Given the description of an element on the screen output the (x, y) to click on. 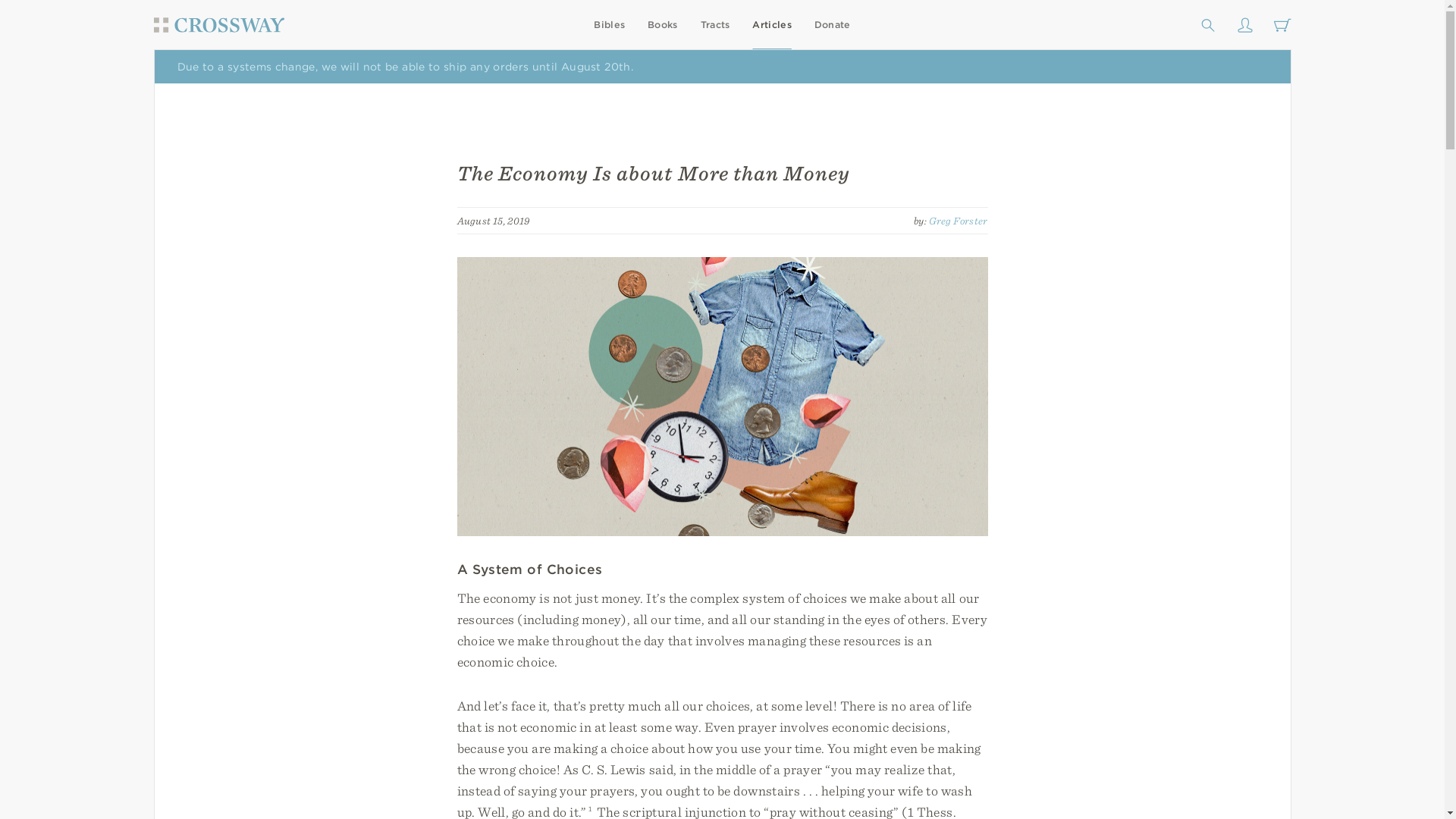
Tracts (715, 24)
Bibles (609, 24)
Donate (831, 24)
Books (662, 24)
Greg Forster (958, 219)
Articles (771, 24)
